Given the description of an element on the screen output the (x, y) to click on. 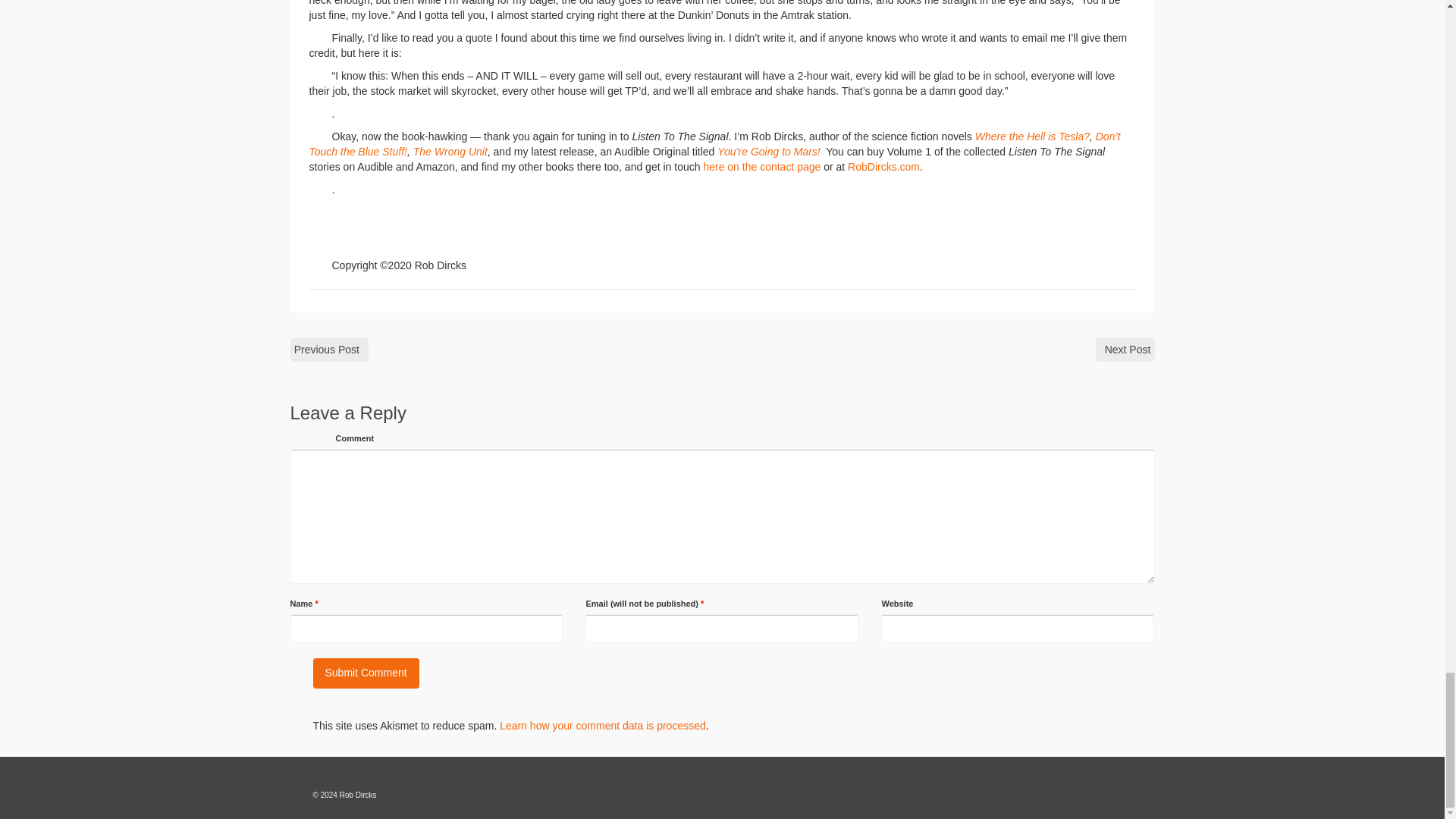
here on the contact page (762, 166)
Previous Post (328, 349)
Learn how your comment data is processed (602, 725)
Submit Comment (366, 673)
Where the Hell is Tesla? (1032, 136)
Next Post (1125, 349)
Submit Comment (366, 673)
The Wrong Unit (450, 151)
RobDircks.com (883, 166)
